Given the description of an element on the screen output the (x, y) to click on. 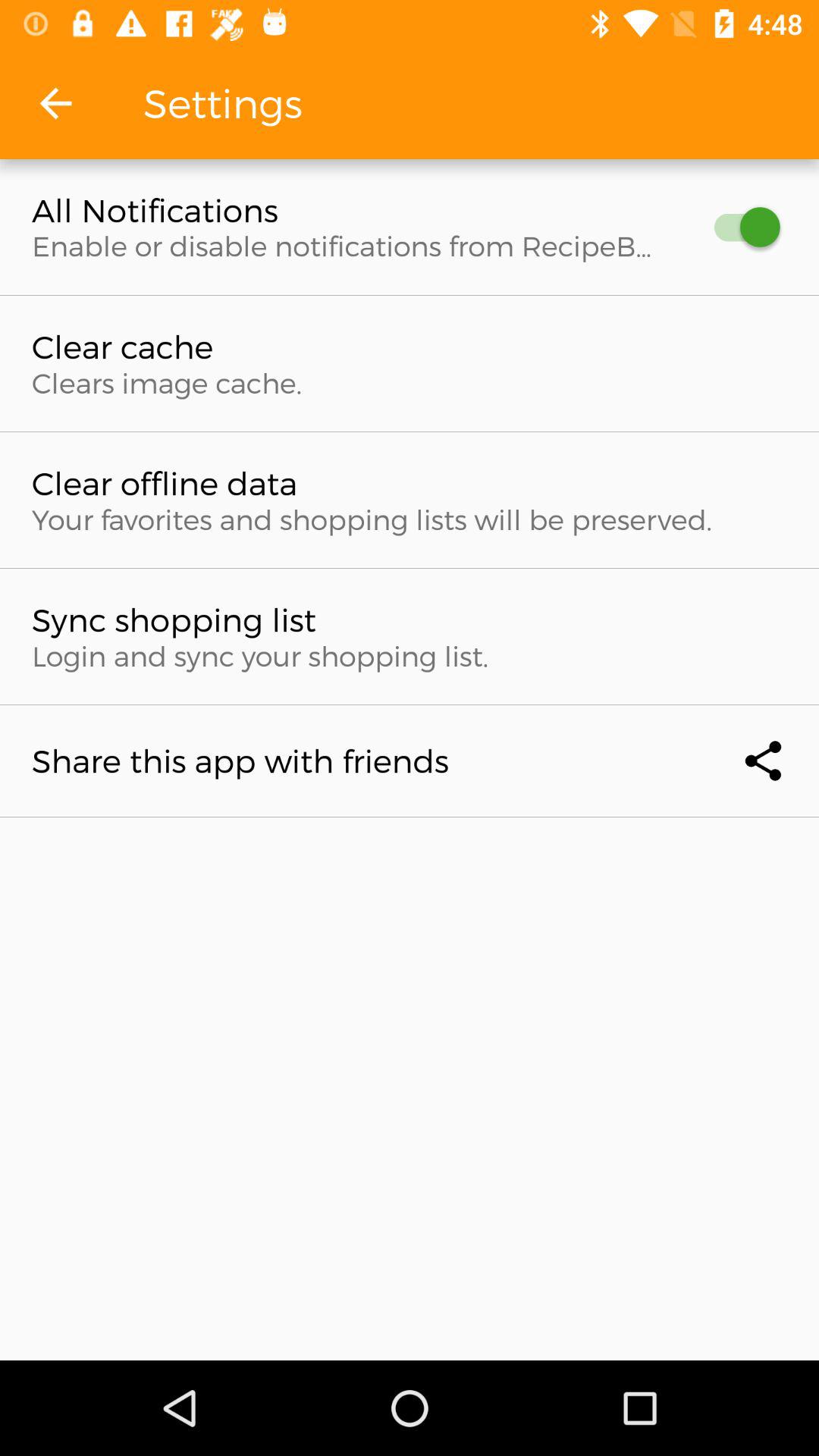
button to receive all notifications (739, 227)
